Given the description of an element on the screen output the (x, y) to click on. 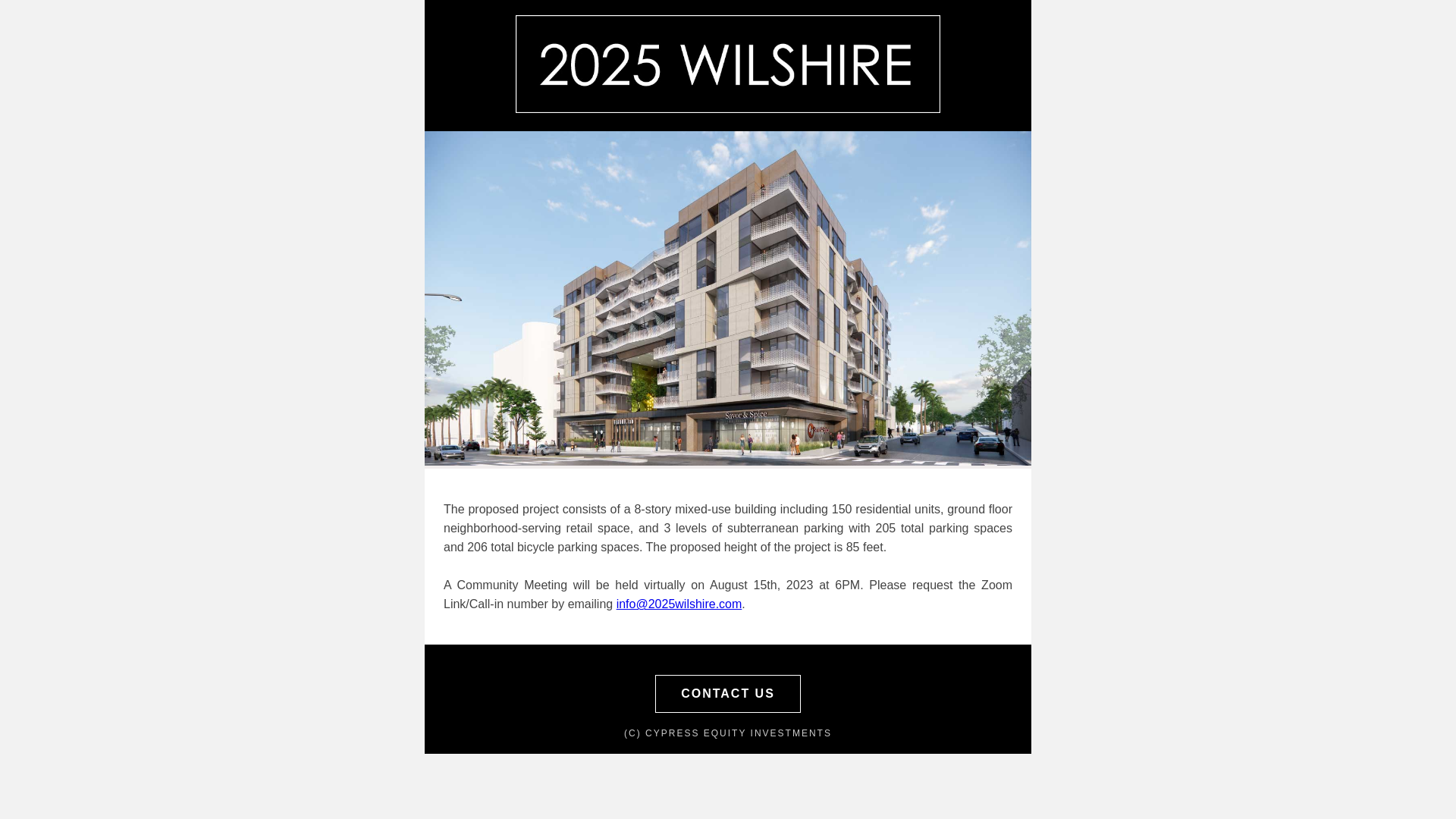
CONTACT US Element type: text (727, 693)
info@2025wilshire.com Element type: text (679, 603)
